Given the description of an element on the screen output the (x, y) to click on. 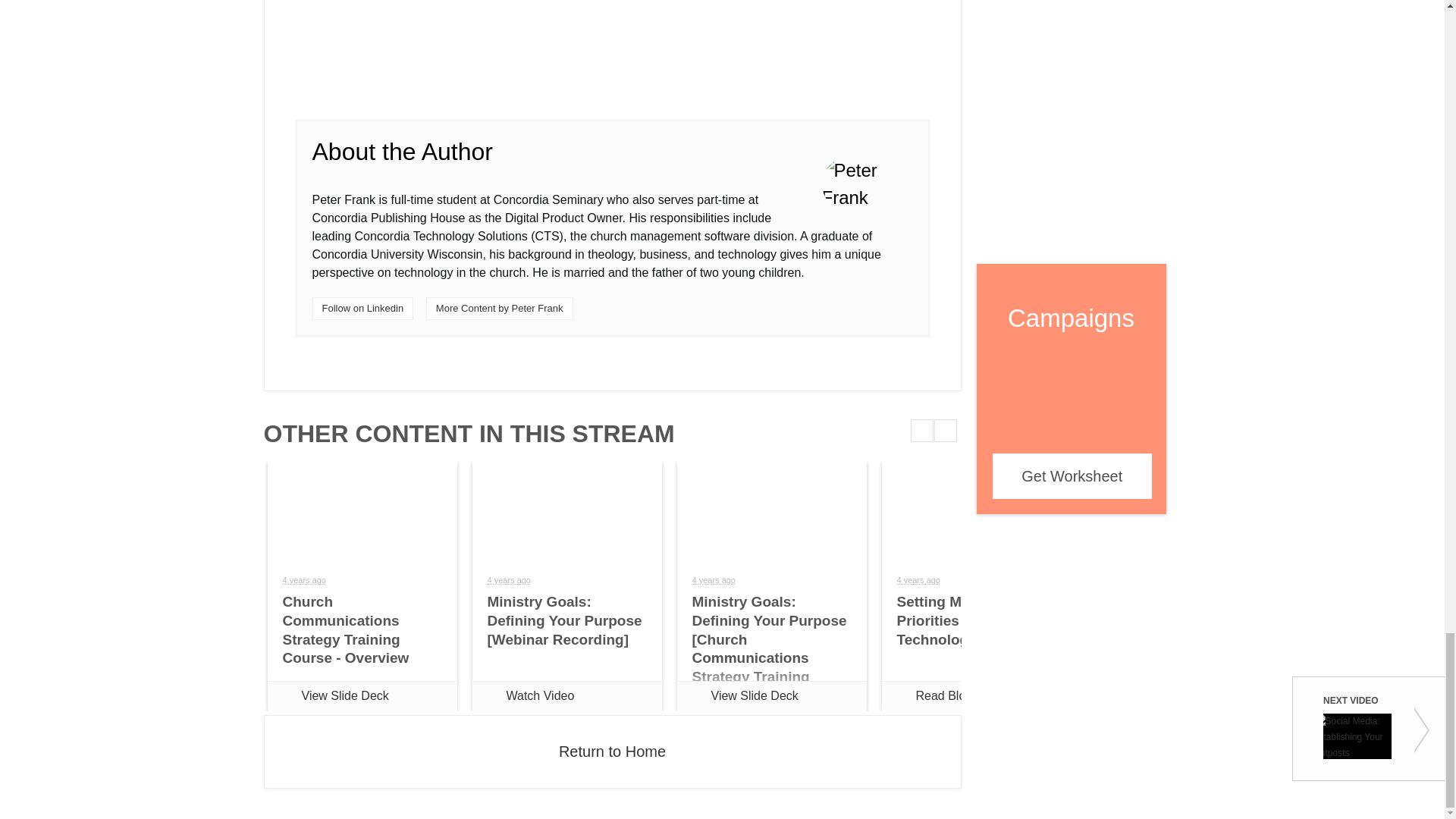
2020-04-29T10:21:21 (713, 579)
2020-04-28T19:00:00 (917, 579)
2020-04-28T04:00:00 (507, 579)
2020-04-29T10:20:07 (303, 579)
